Given the description of an element on the screen output the (x, y) to click on. 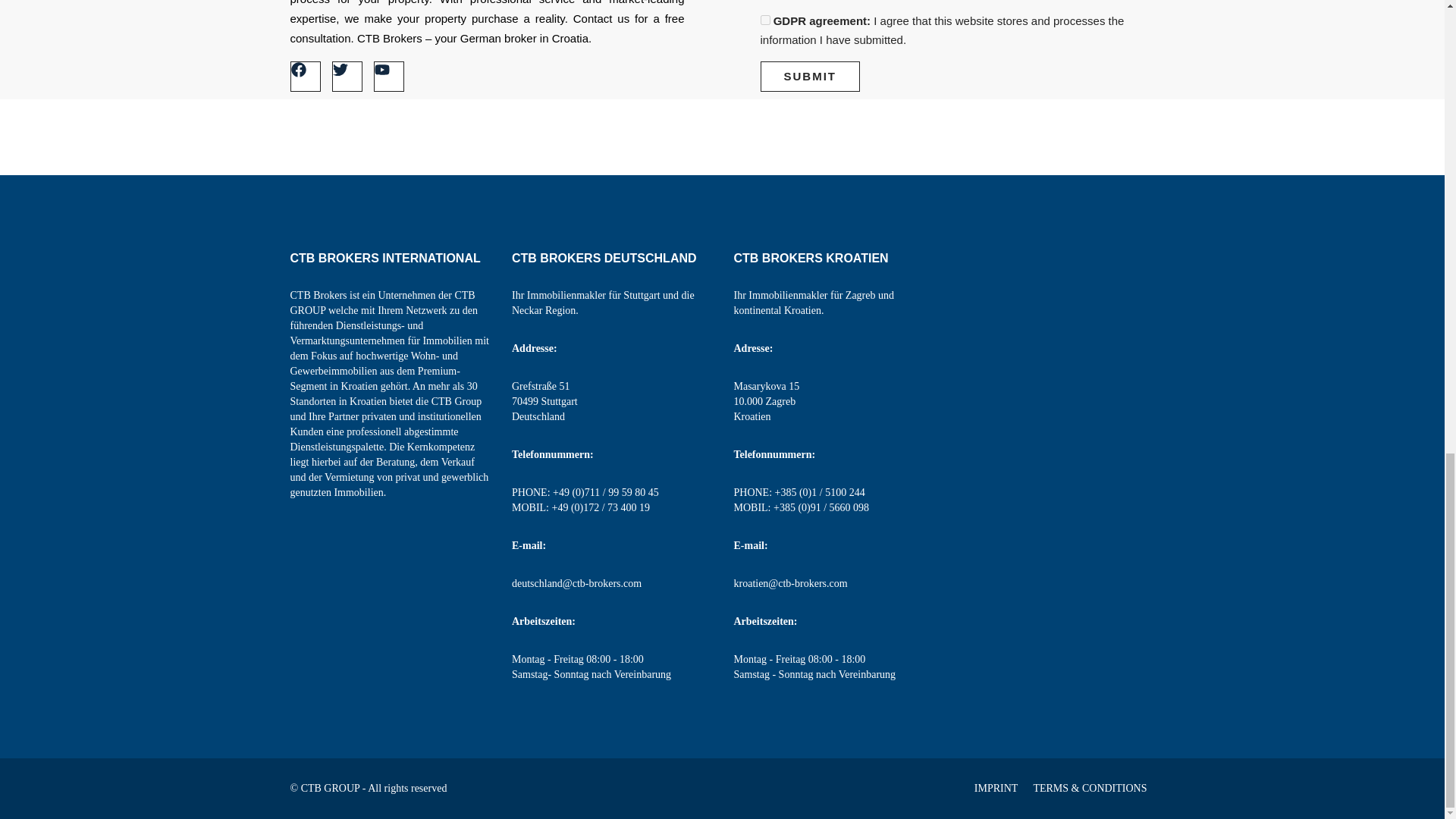
on (765, 20)
